Given the description of an element on the screen output the (x, y) to click on. 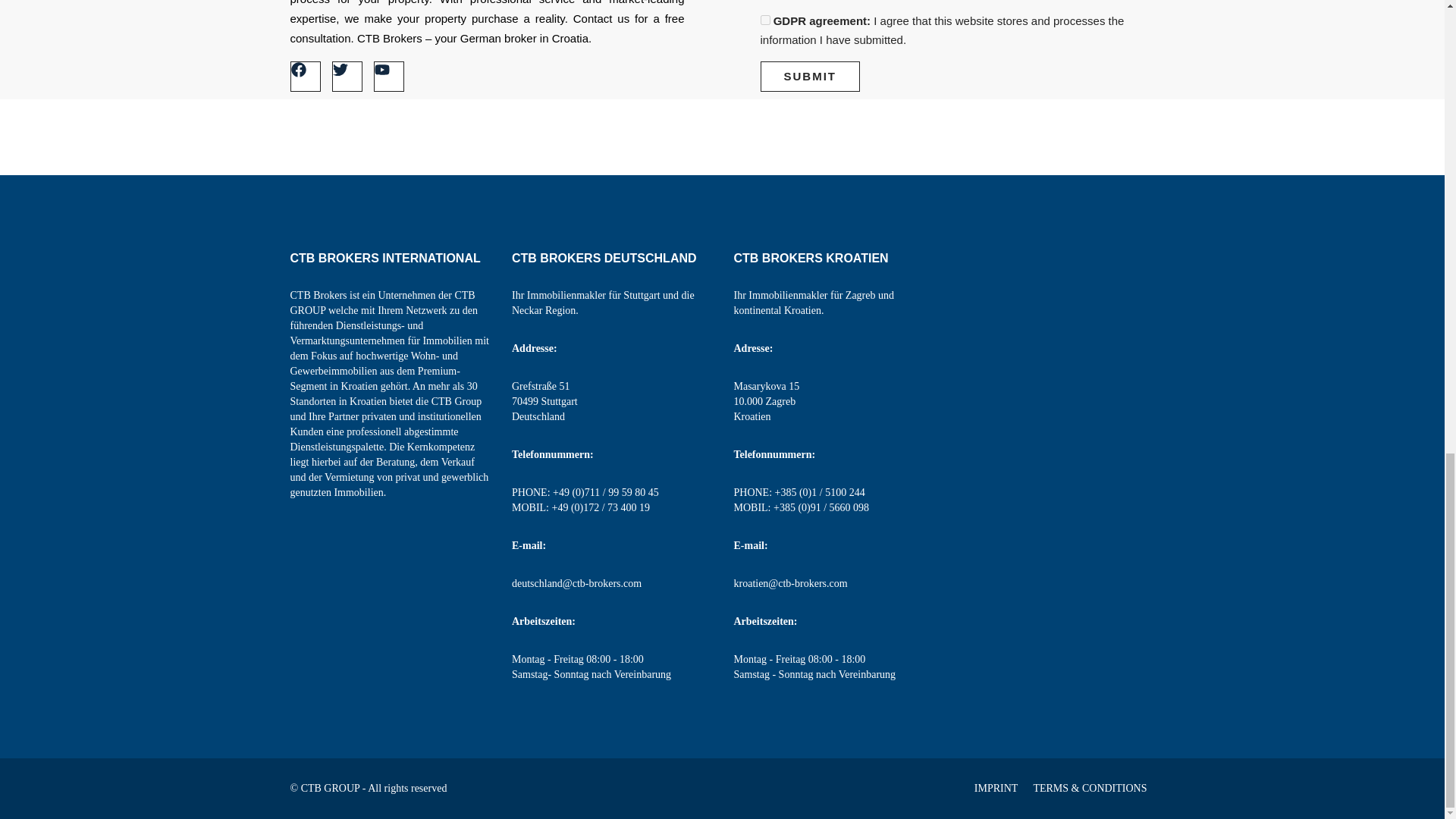
on (765, 20)
